Given the description of an element on the screen output the (x, y) to click on. 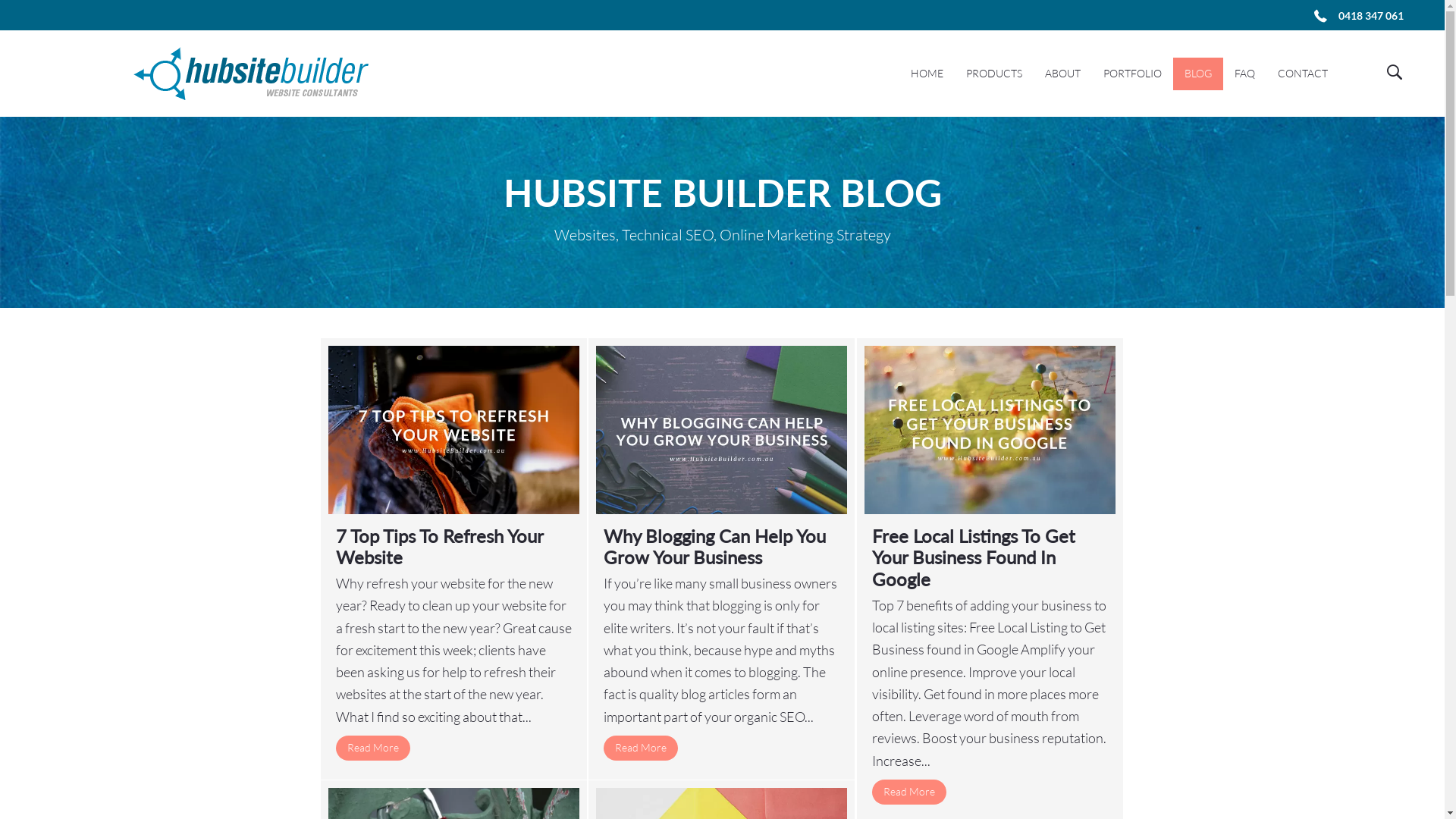
PRODUCTS Element type: text (993, 73)
hubsite-builder-website-consultants-logo Element type: hover (250, 73)
BLOG Element type: text (1198, 73)
website-clean-up Element type: hover (453, 429)
Read More
about Why Blogging Can Help You Grow Your Business Element type: text (640, 747)
HOME Element type: text (926, 73)
why-blogging-can-help-you-grow-your-business Element type: hover (721, 429)
7 Top Tips To Refresh Your Website Element type: text (438, 546)
Read More
about 7 Top Tips To Refresh Your Website Element type: text (372, 747)
FAQ Element type: text (1244, 73)
Why Blogging Can Help You Grow Your Business Element type: text (714, 546)
0418 347 061 Element type: text (1370, 16)
Free Local Listings To Get Your Business Found In Google Element type: text (973, 557)
PORTFOLIO Element type: text (1132, 73)
CONTACT Element type: text (1302, 73)
ABOUT Element type: text (1062, 73)
